Given the description of an element on the screen output the (x, y) to click on. 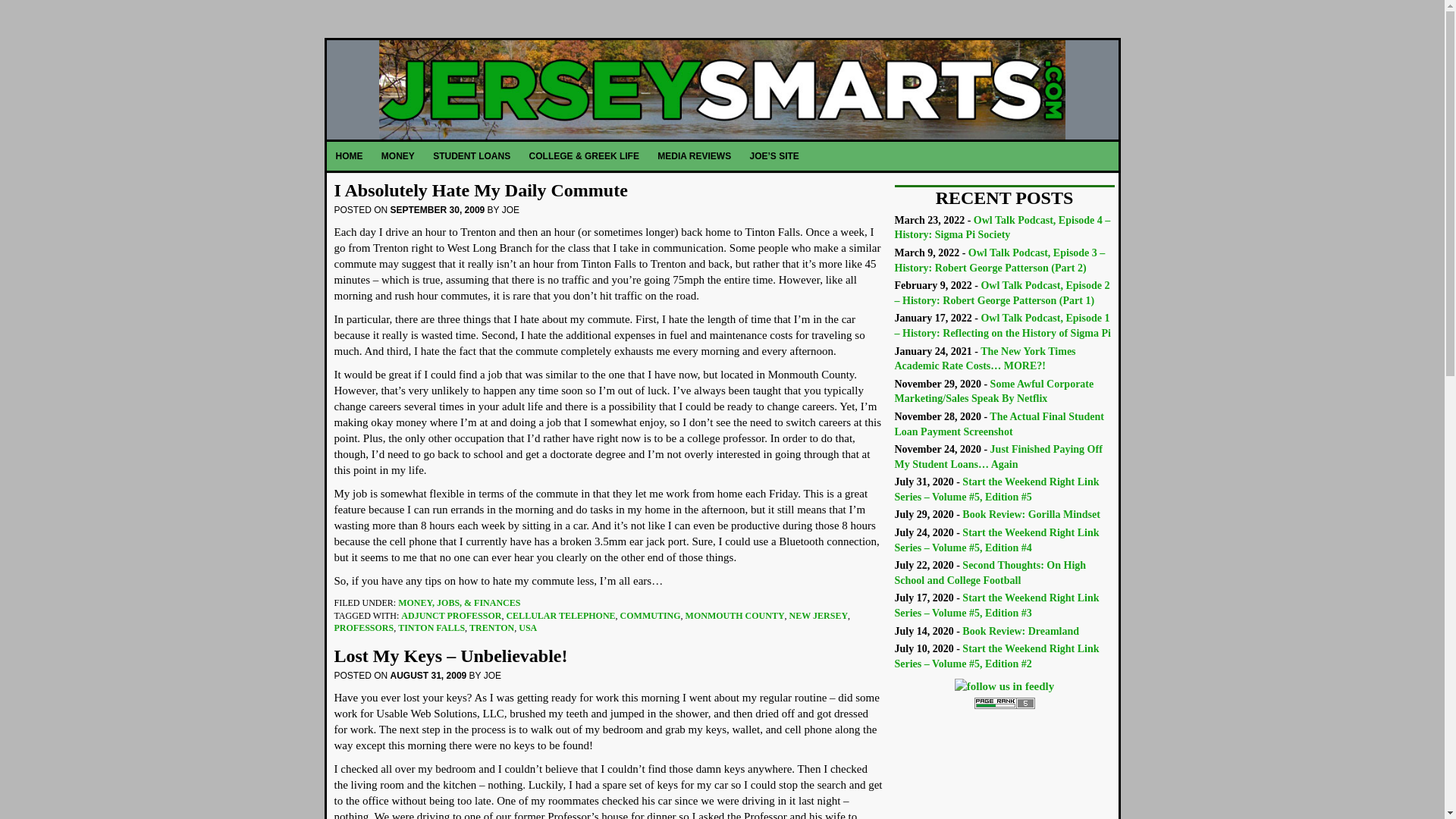
July 24, 2020 (997, 540)
March 23, 2022 (1002, 227)
NEW JERSEY (818, 615)
HOME (349, 155)
CELLULAR TELEPHONE (559, 615)
March 9, 2022 (1000, 260)
July 14, 2020 (1020, 631)
MONMOUTH COUNTY (734, 615)
January 24, 2021 (985, 358)
July 17, 2020 (997, 605)
